Given the description of an element on the screen output the (x, y) to click on. 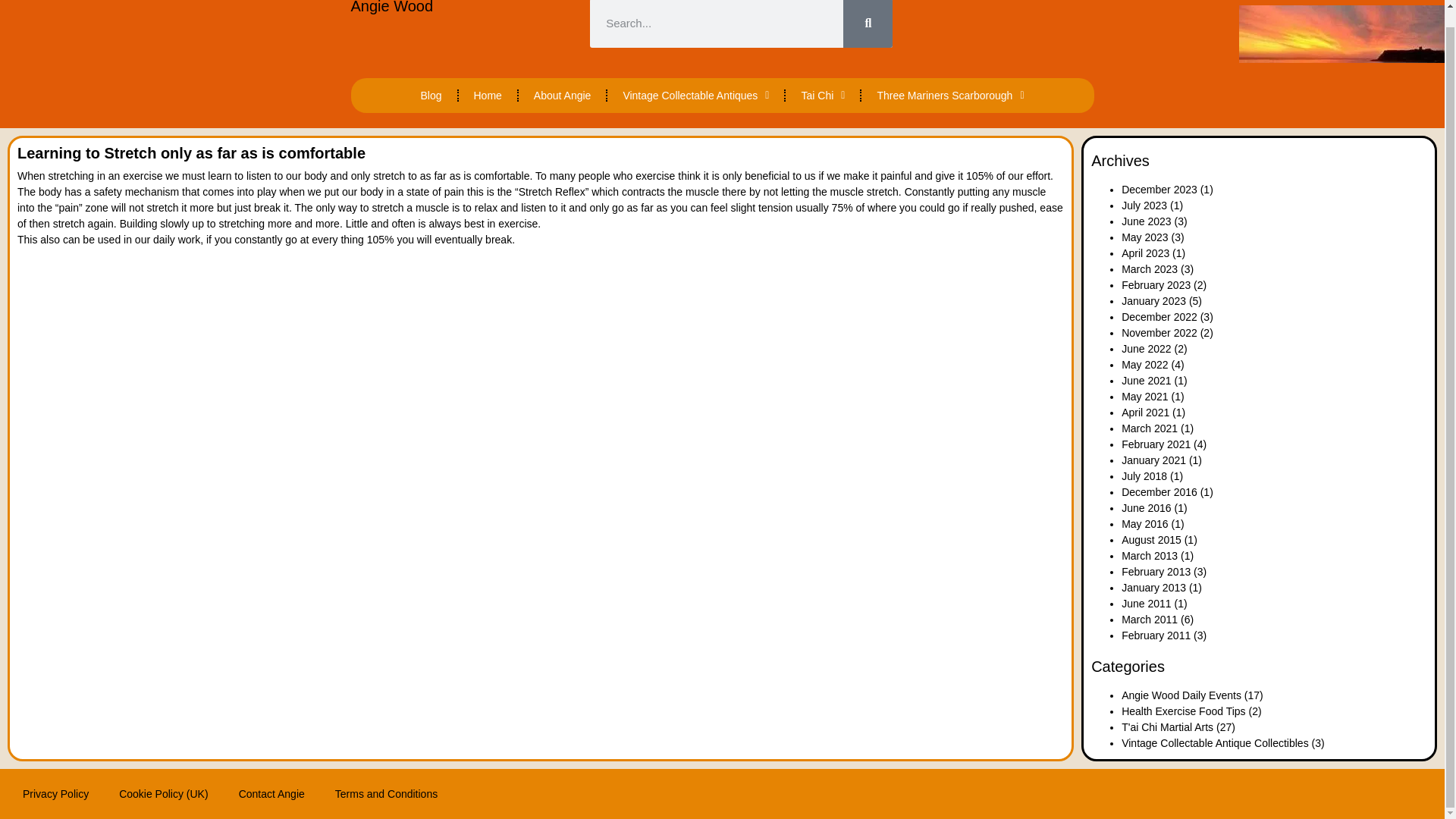
Blog (430, 95)
exercise (141, 175)
Three Mariners Scarborough (950, 95)
Angie Wood (391, 7)
Tai Chi (823, 95)
Muscle (702, 191)
Physical exercise (141, 175)
December 2023 (1158, 189)
muscle (702, 191)
Pain (895, 175)
